Given the description of an element on the screen output the (x, y) to click on. 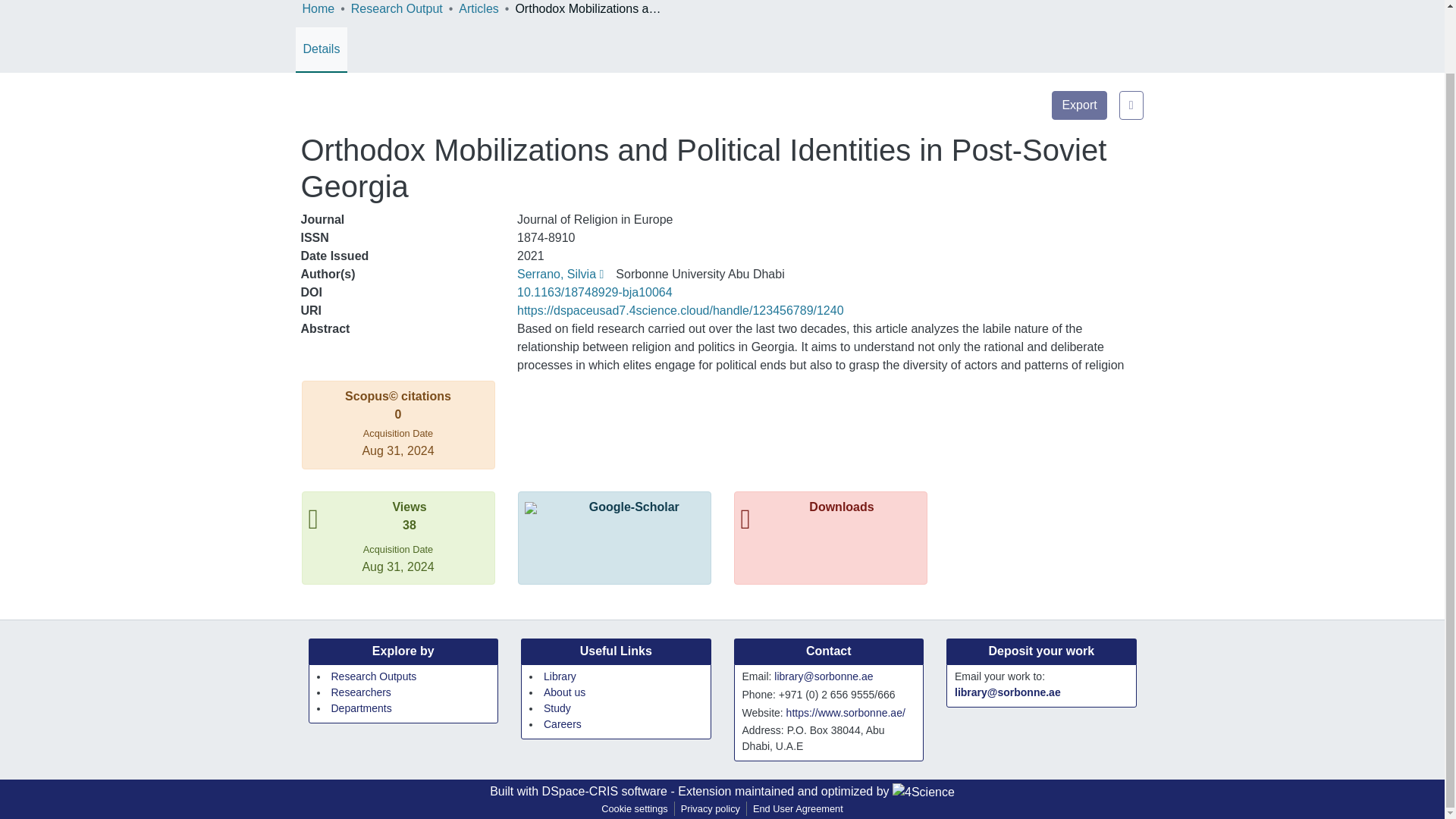
Serrano, Silvia  (560, 273)
Home (317, 9)
Library (559, 676)
Export (1078, 104)
Google-Scholar (614, 506)
Downloads (829, 518)
Research Output (396, 9)
Departments (360, 707)
Research Outputs (373, 676)
Articles (477, 9)
